Given the description of an element on the screen output the (x, y) to click on. 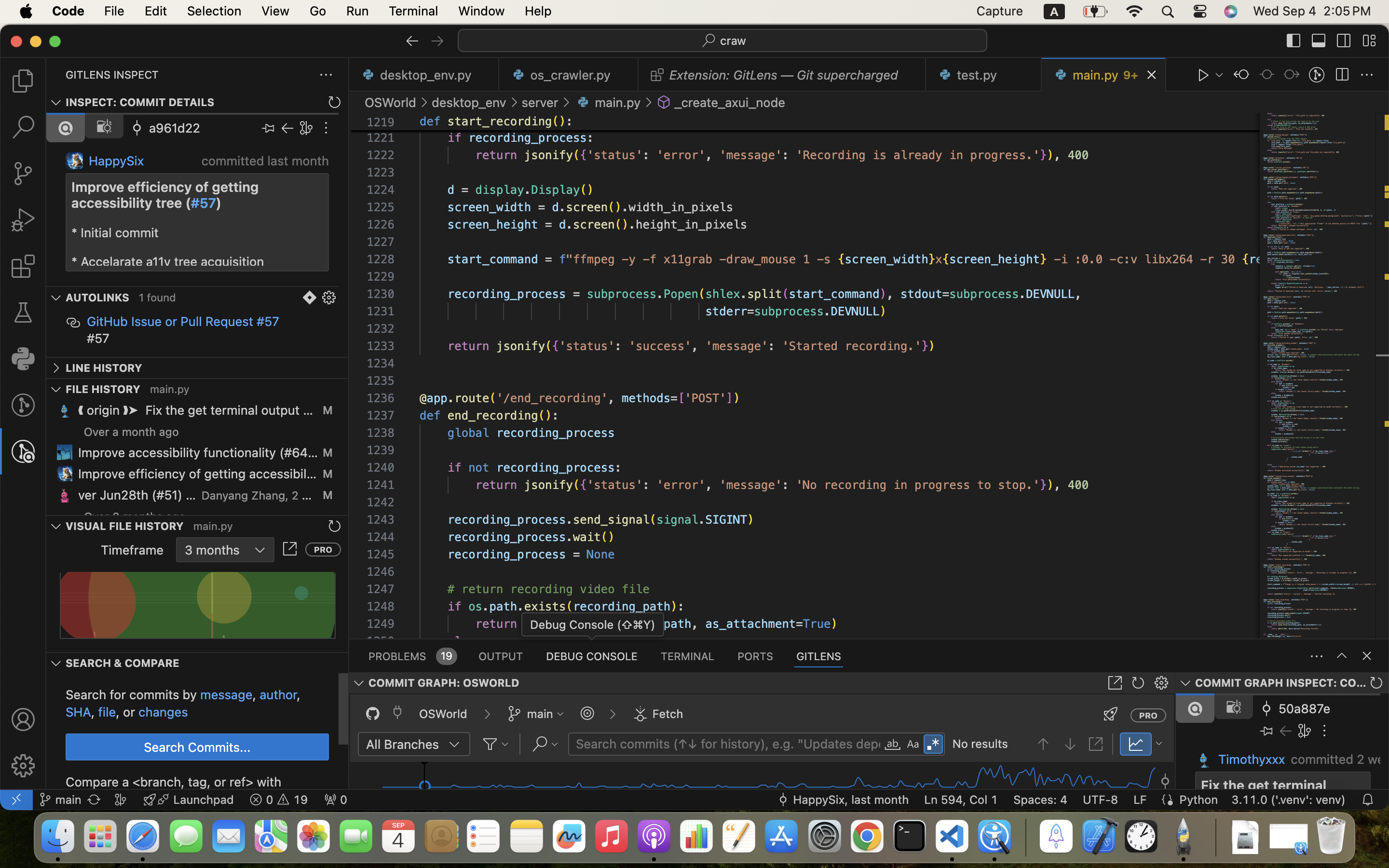
FILE HISTORY Element type: AXStaticText (102, 388)
craw Element type: AXStaticText (733, 40)
Fix the get terminal output error caused by namespace parameter changes Timothyxxx committed 50a887e 2 weeks ago        Element type: AXGroup (1282, 740)
GITLENS INSPECT Element type: AXStaticText (112, 74)
0  Element type: AXRadioButton (23, 173)
